Given the description of an element on the screen output the (x, y) to click on. 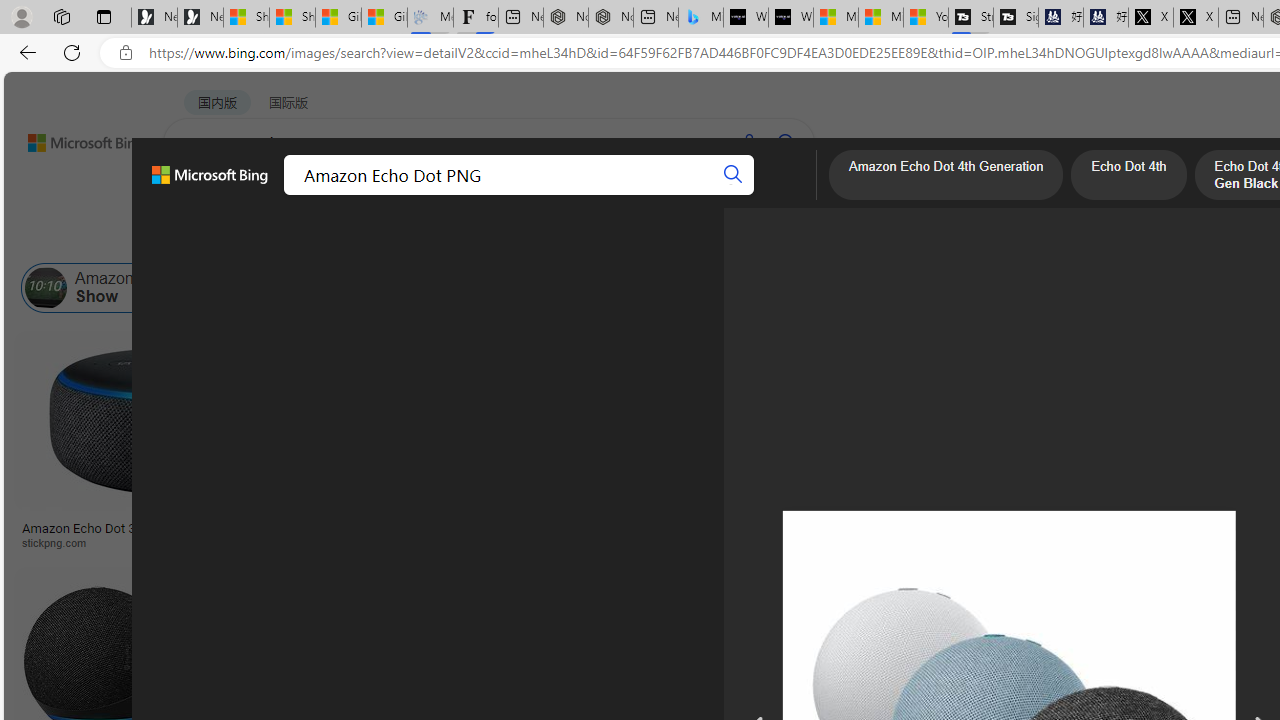
ACADEMIC (548, 195)
FrAndroid (758, 541)
